Given the description of an element on the screen output the (x, y) to click on. 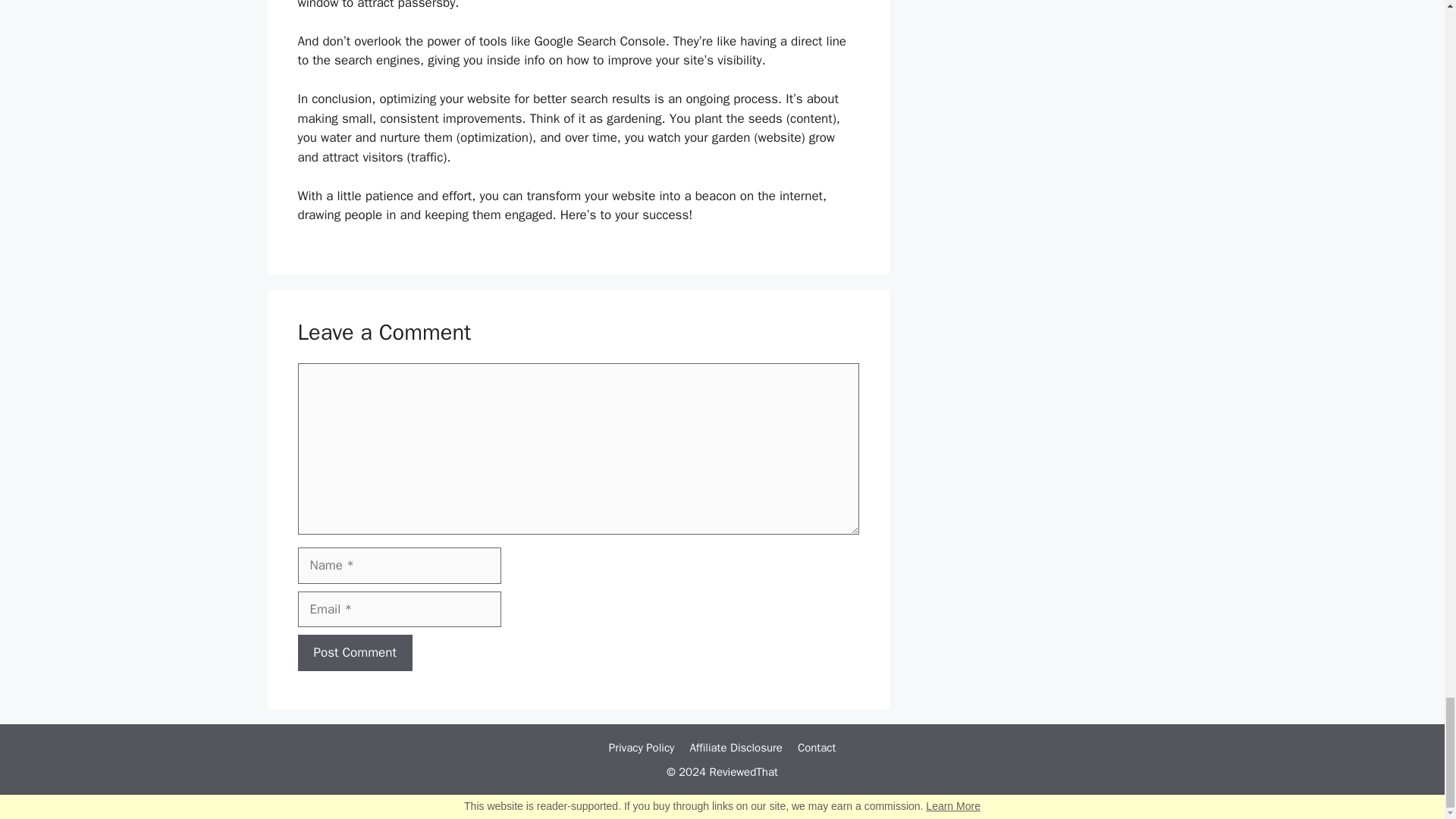
Privacy Policy (641, 747)
Post Comment (354, 652)
Contact (816, 747)
Affiliate Disclosure (735, 747)
Post Comment (354, 652)
ReviewedThat (743, 771)
